Given the description of an element on the screen output the (x, y) to click on. 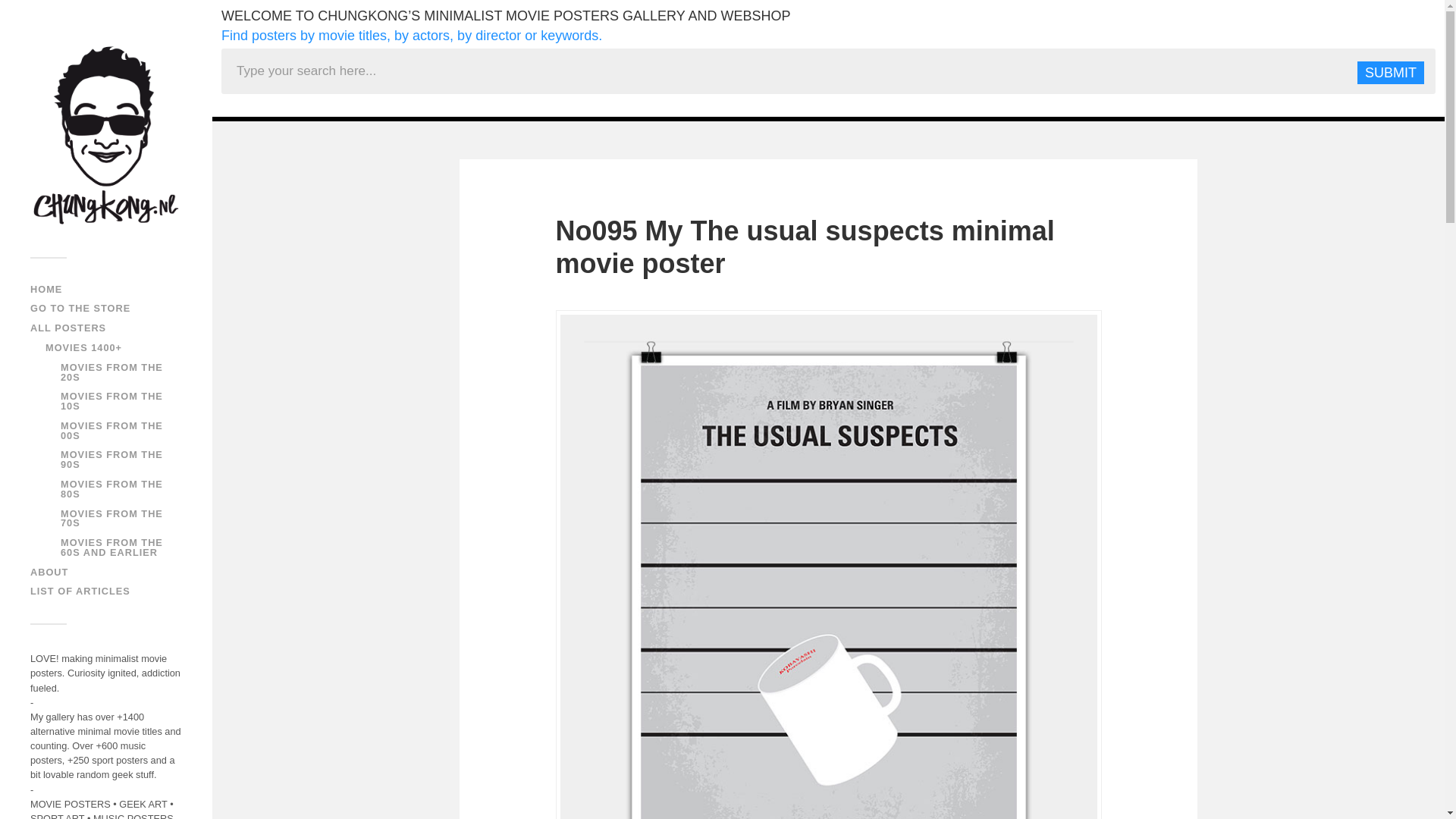
LIST OF ARTICLES (80, 591)
MOVIES FROM THE 90S (112, 459)
MOVIES FROM THE 10S (112, 400)
HOME (46, 288)
MOVIES FROM THE 60S AND EARLIER (112, 547)
ALL POSTERS (68, 327)
MOVIES FROM THE 80S (112, 488)
MOVIES FROM THE 20S (112, 372)
MOVIES FROM THE 70S (112, 518)
MOVIES FROM THE 00S (112, 430)
